Given the description of an element on the screen output the (x, y) to click on. 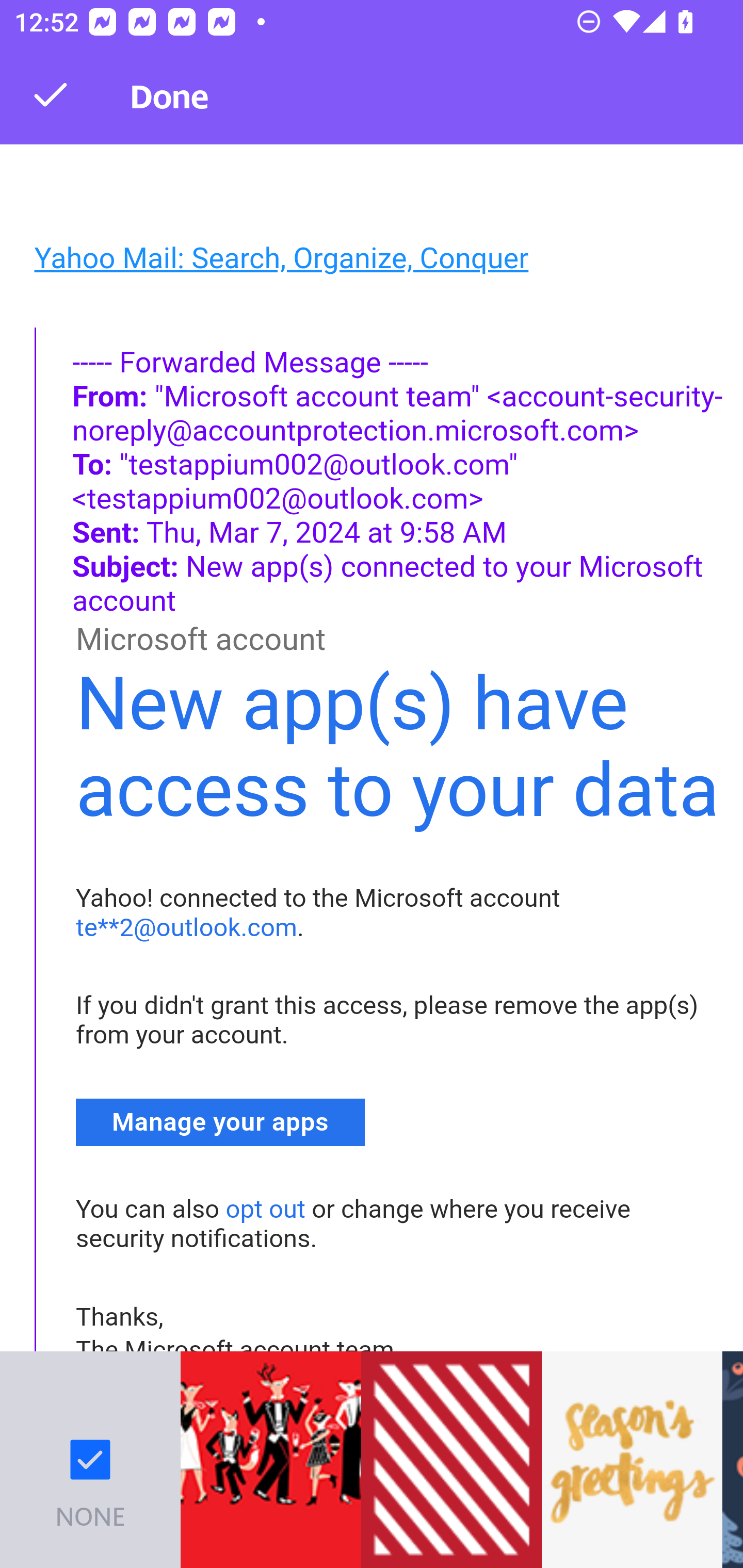
Done selecting stationery theme (50, 93)
Yahoo Mail: Search, Organize, Conquer (280, 257)
te**2@outlook.com (186, 927)
Manage your apps (220, 1121)
opt out (264, 1208)
NONE (90, 1459)
Forest Fete (270, 1459)
Joy (451, 1459)
Season's Greetings (631, 1459)
